Given the description of an element on the screen output the (x, y) to click on. 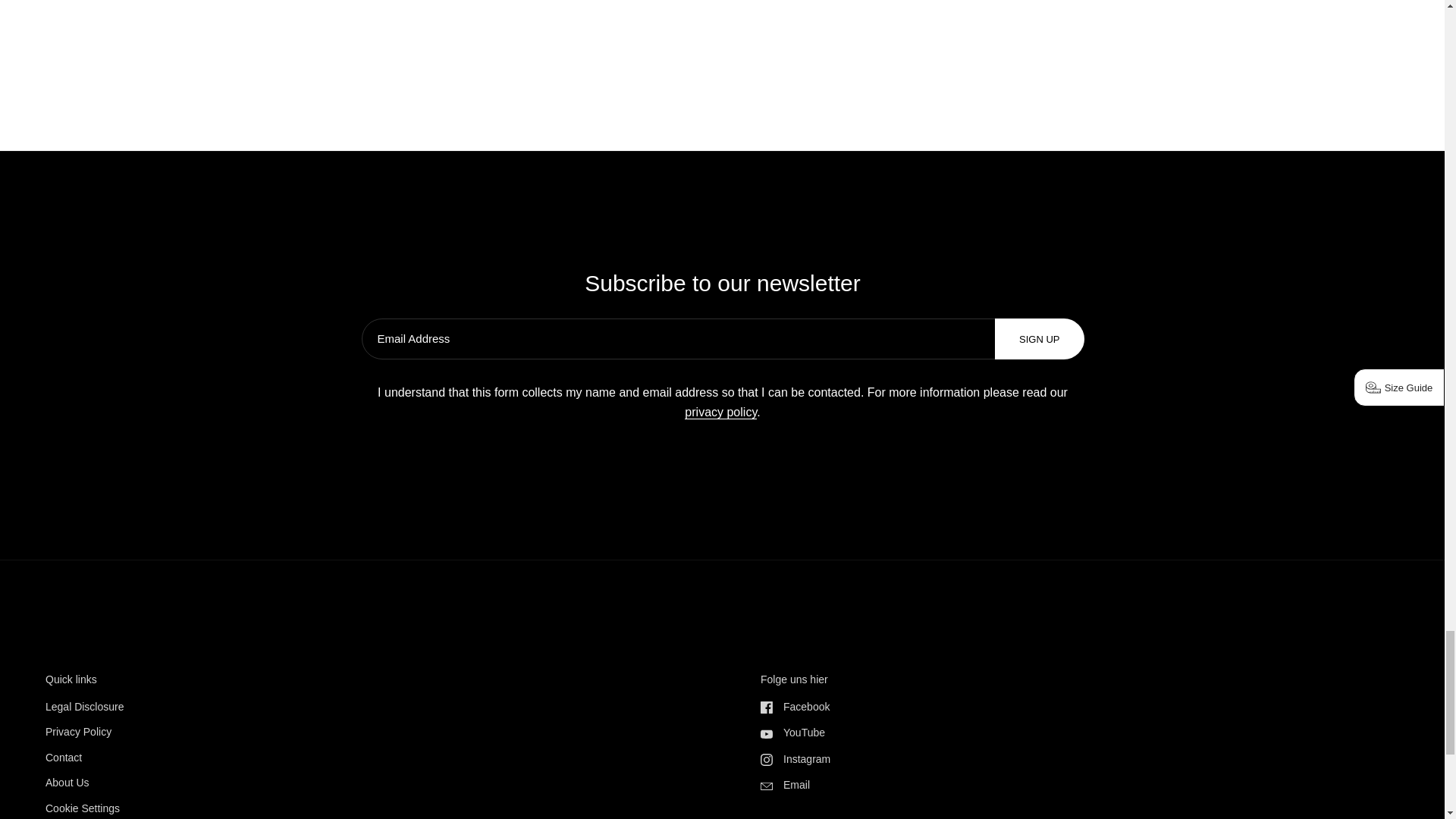
SIGN UP (1039, 338)
Privacy Policy (720, 412)
